Given the description of an element on the screen output the (x, y) to click on. 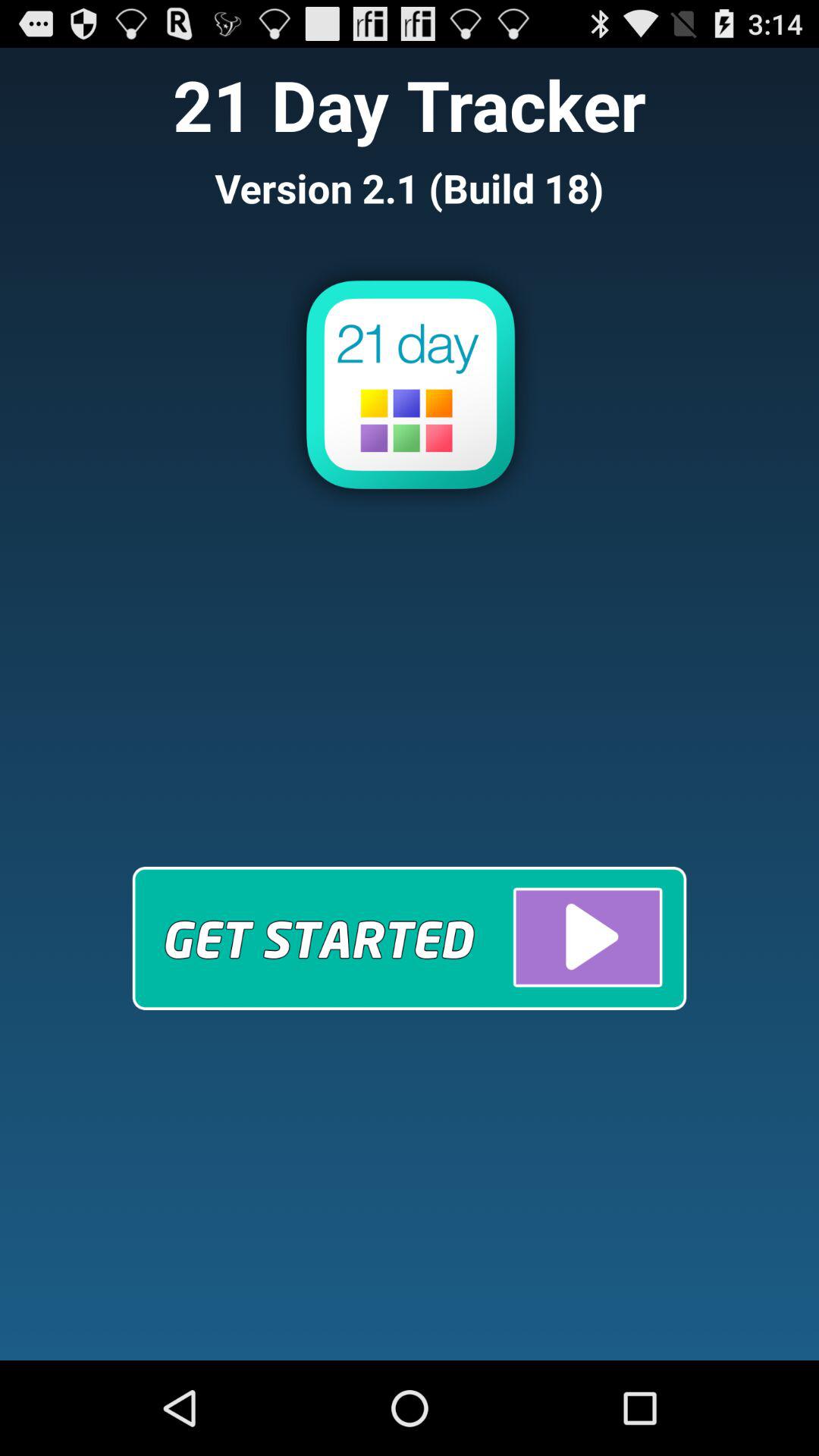
start the app (409, 937)
